Given the description of an element on the screen output the (x, y) to click on. 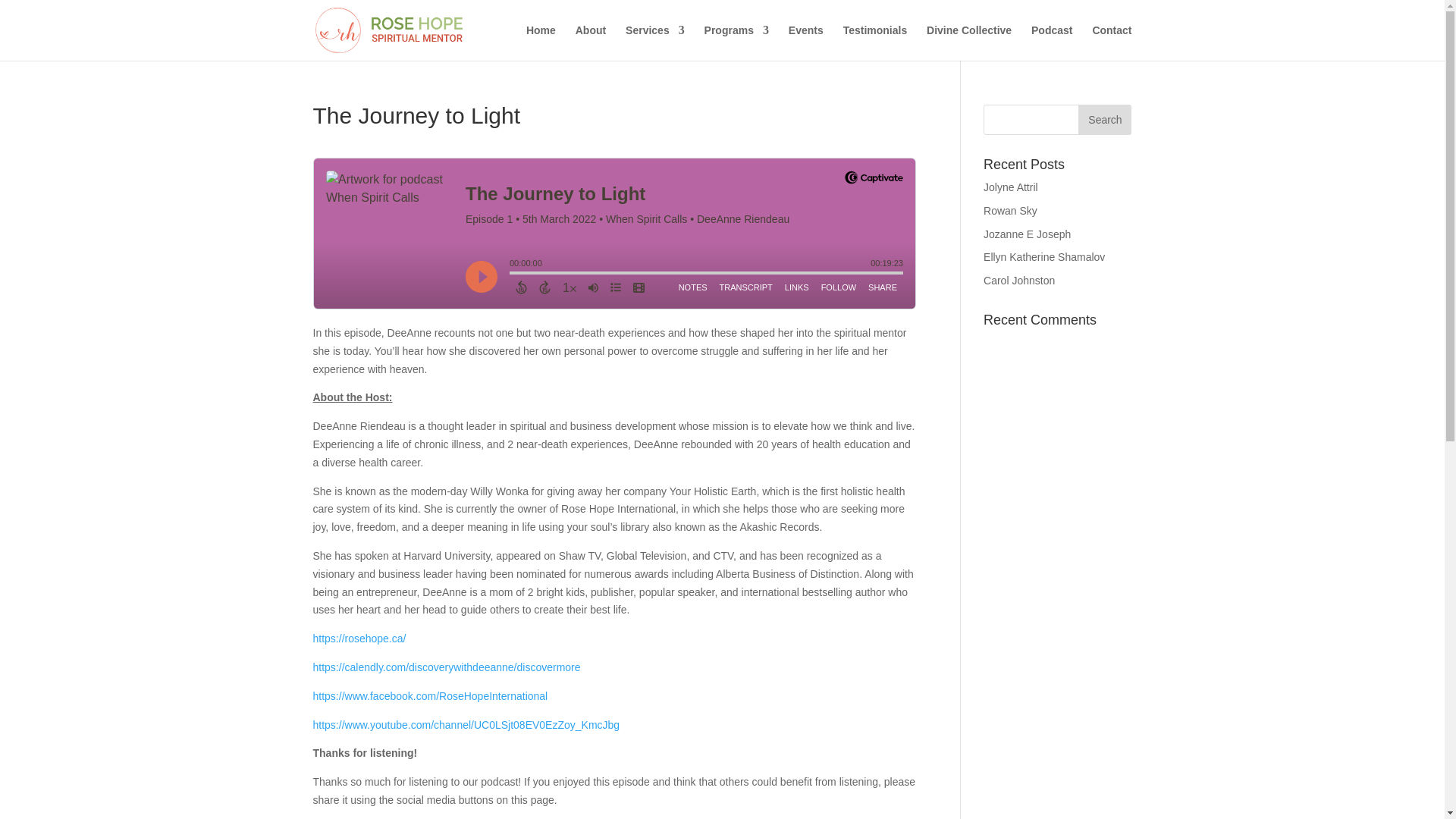
Programs (736, 42)
Divine Collective (968, 42)
Services (655, 42)
Contact (1111, 42)
Search (1104, 119)
Testimonials (875, 42)
Podcast (1050, 42)
Events (806, 42)
